Given the description of an element on the screen output the (x, y) to click on. 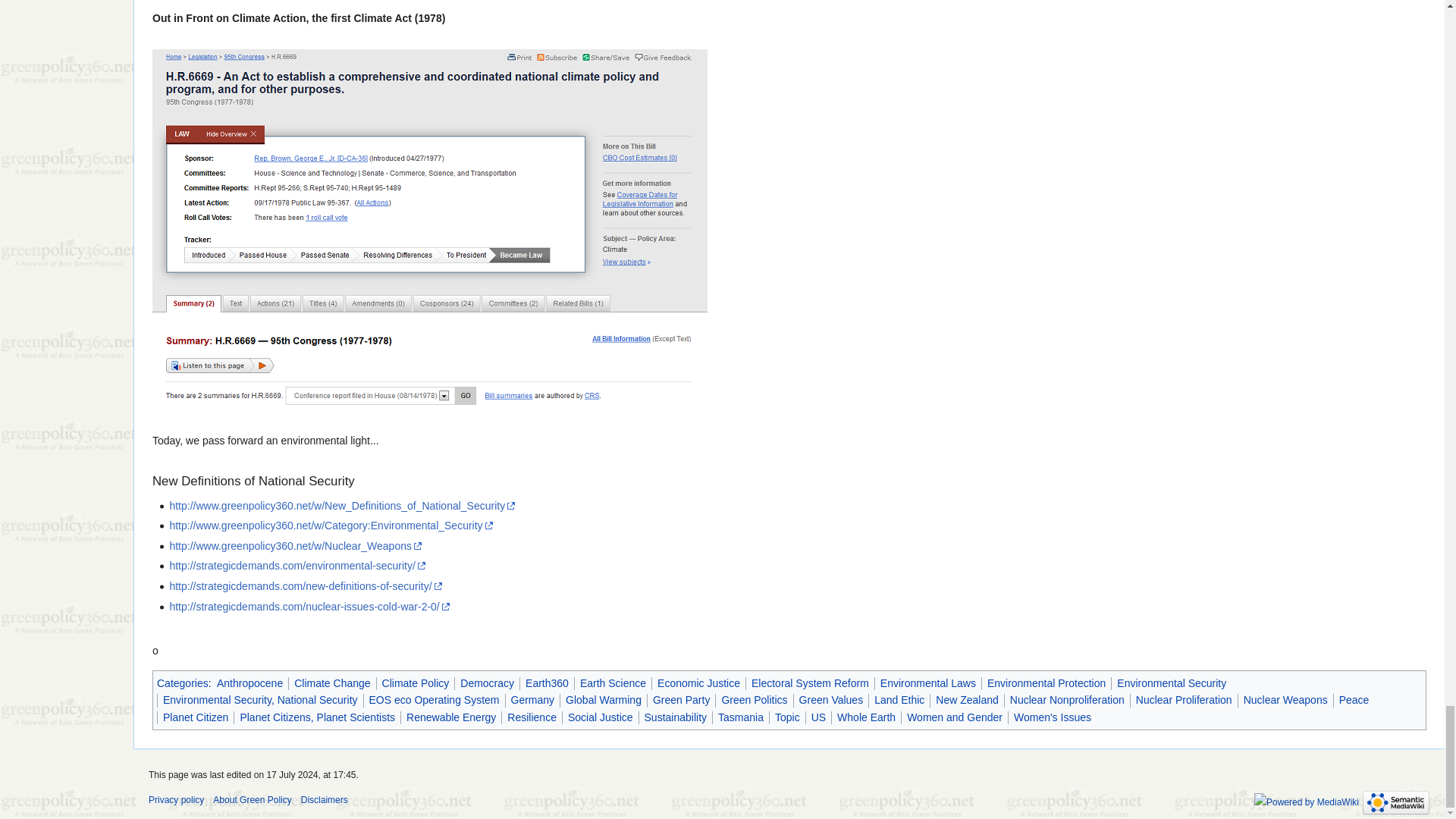
Category:Economic Justice (698, 683)
Category:Democracy (486, 683)
Category:Climate Policy (415, 683)
Special:Categories (182, 683)
Category:Anthropocene (249, 683)
Category:Climate Change (331, 683)
Category:Earth Science (612, 683)
Category:Earth360 (547, 683)
